Given the description of an element on the screen output the (x, y) to click on. 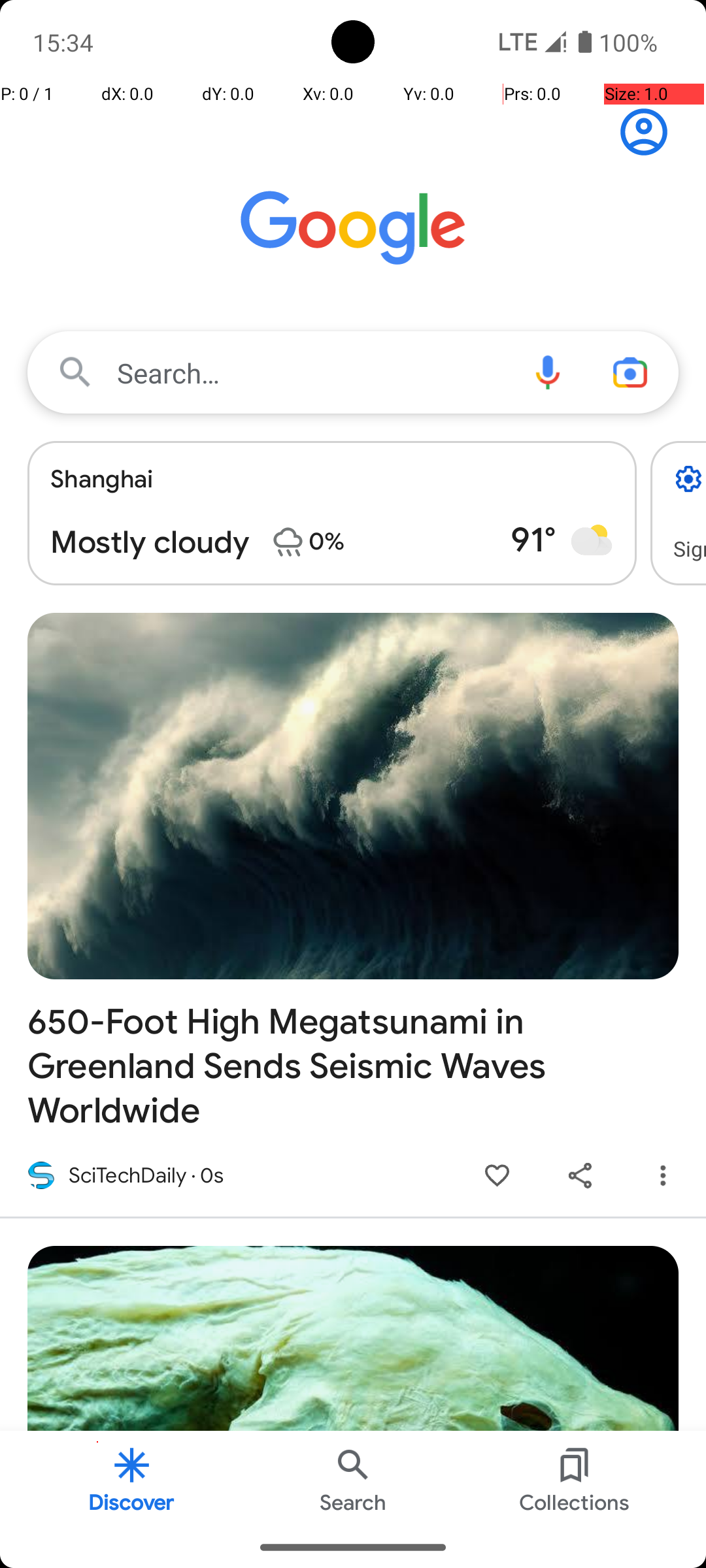
Sign in Element type: android.widget.FrameLayout (650, 131)
Camera search Element type: android.widget.ImageButton (629, 372)
Collections Button Element type: android.widget.FrameLayout (574, 1478)
Like Element type: android.view.ViewGroup (497, 1175)
Share 650-Foot High Megatsunami in Greenland Sends Seismic Waves Worldwide Element type: android.view.ViewGroup (580, 1175)
Chance of precipitation Element type: android.widget.ImageView (287, 541)
